Given the description of an element on the screen output the (x, y) to click on. 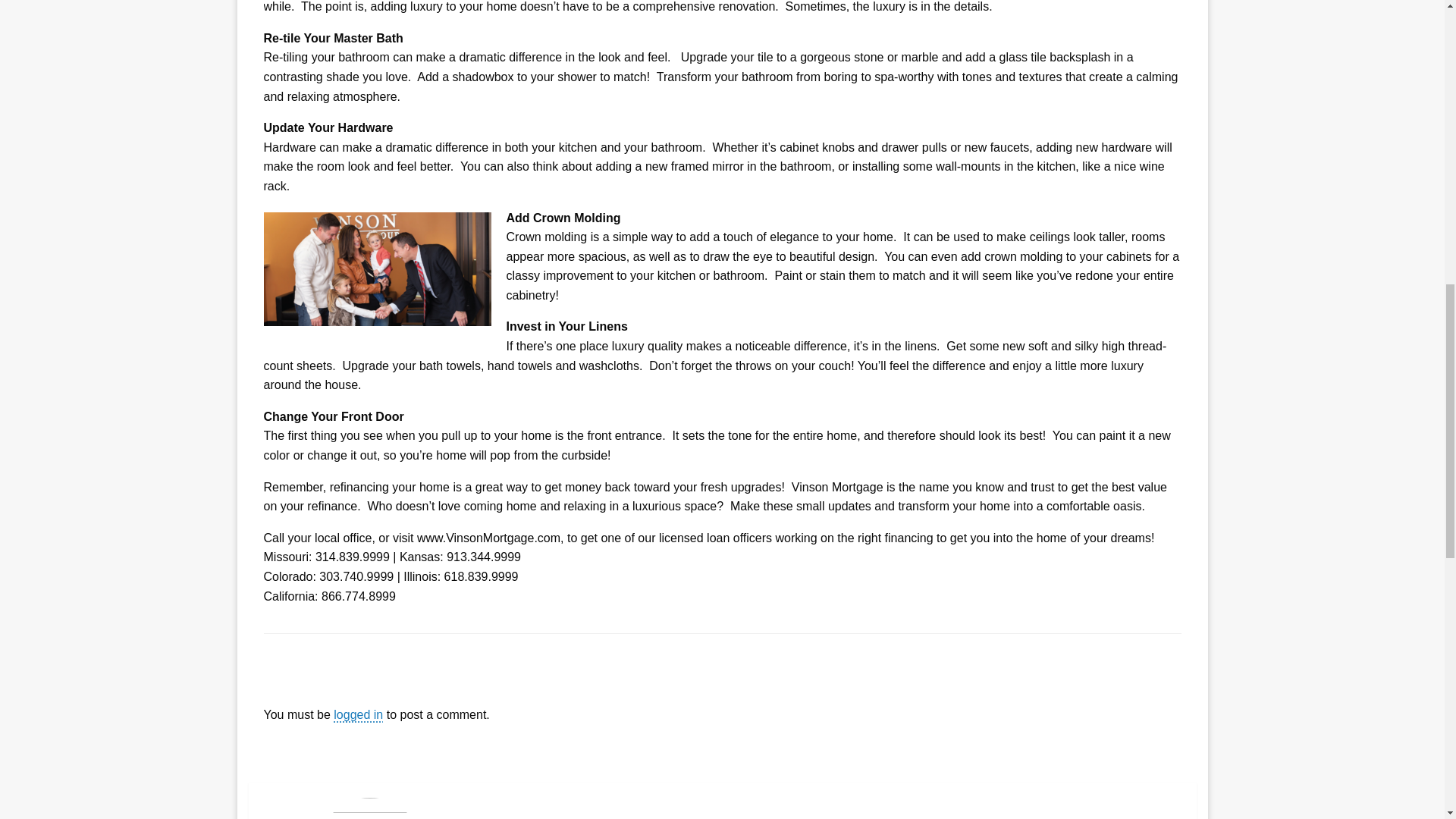
logged in (357, 714)
